Given the description of an element on the screen output the (x, y) to click on. 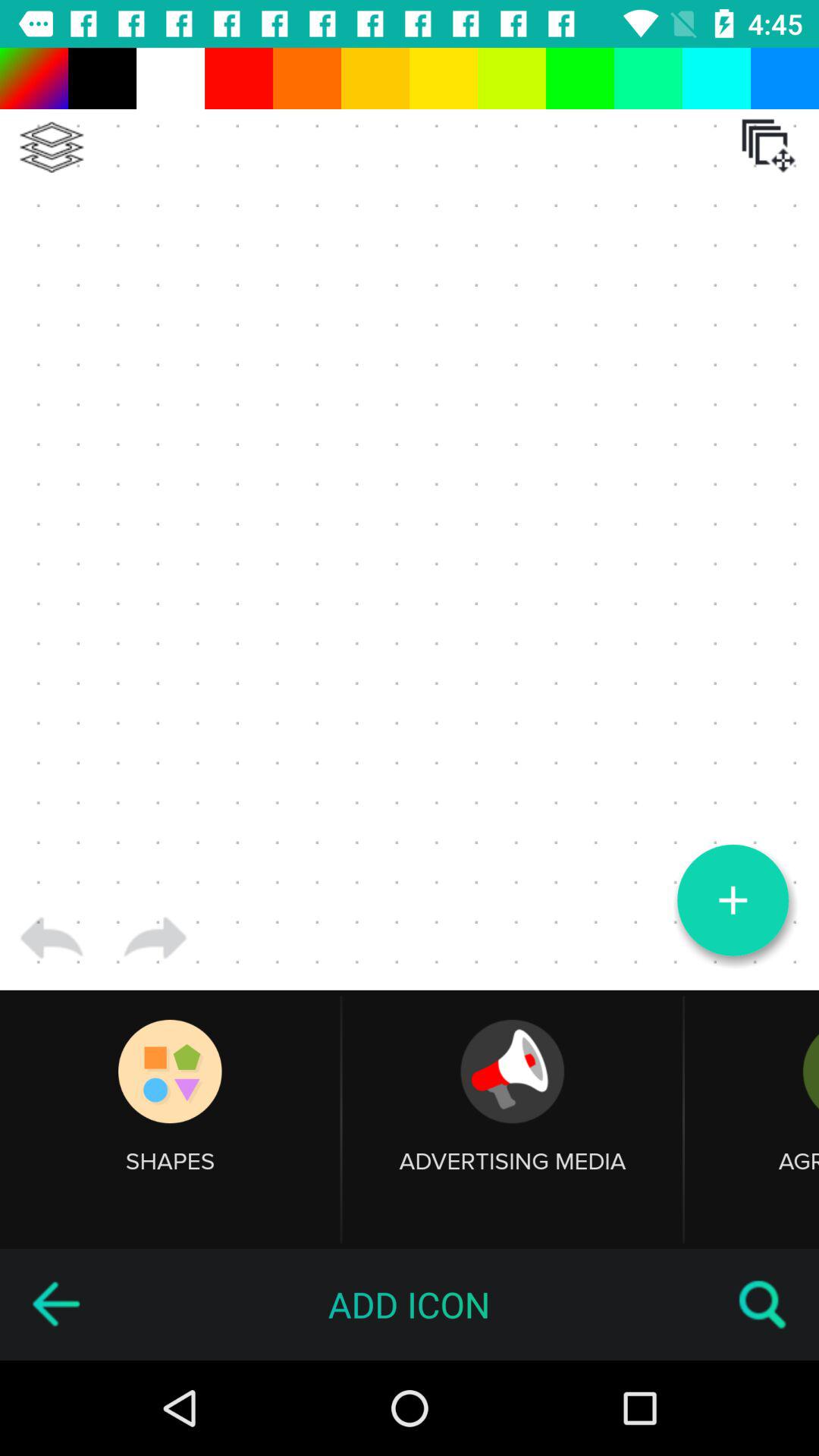
zoom (733, 900)
